Given the description of an element on the screen output the (x, y) to click on. 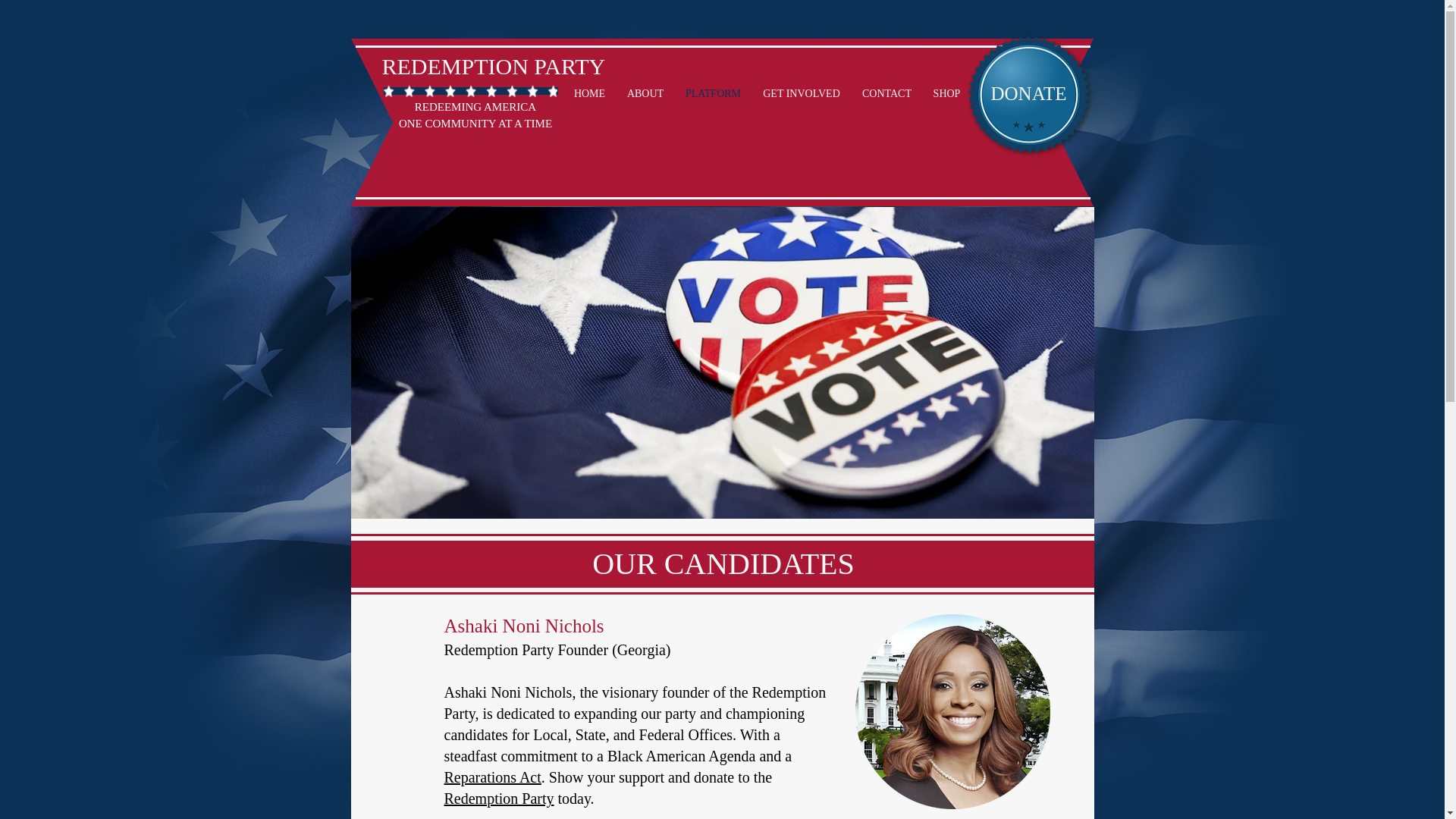
ABOUT (644, 93)
CONTACT (885, 93)
DONATE (1028, 92)
REDEMPTION PARTY (493, 66)
HOME (588, 93)
Redemption Party (499, 798)
SHOP (946, 93)
GET INVOLVED (801, 93)
PLATFORM (713, 93)
Reparations Act (492, 777)
